Given the description of an element on the screen output the (x, y) to click on. 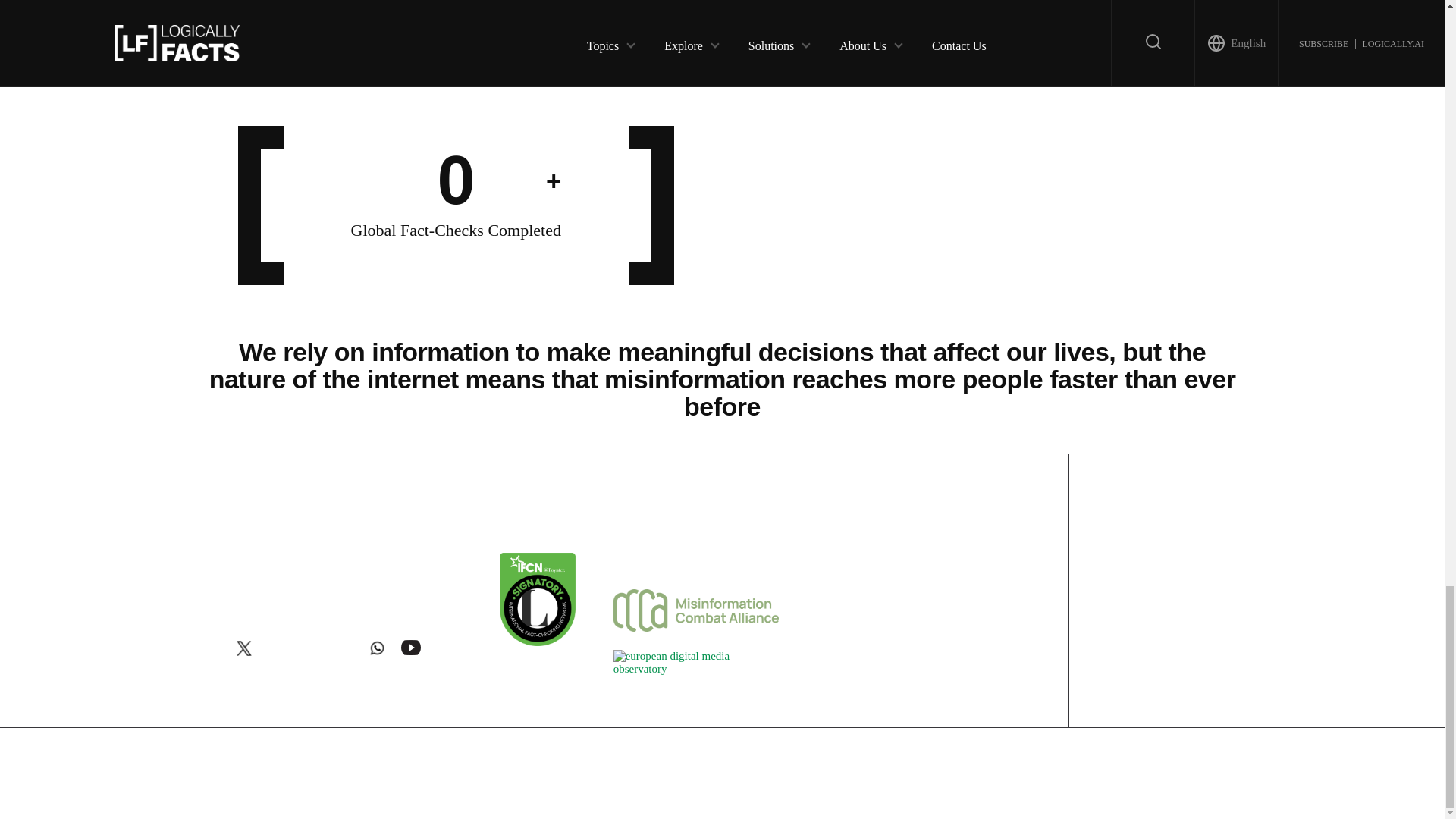
IFCN signatory (537, 642)
